Given the description of an element on the screen output the (x, y) to click on. 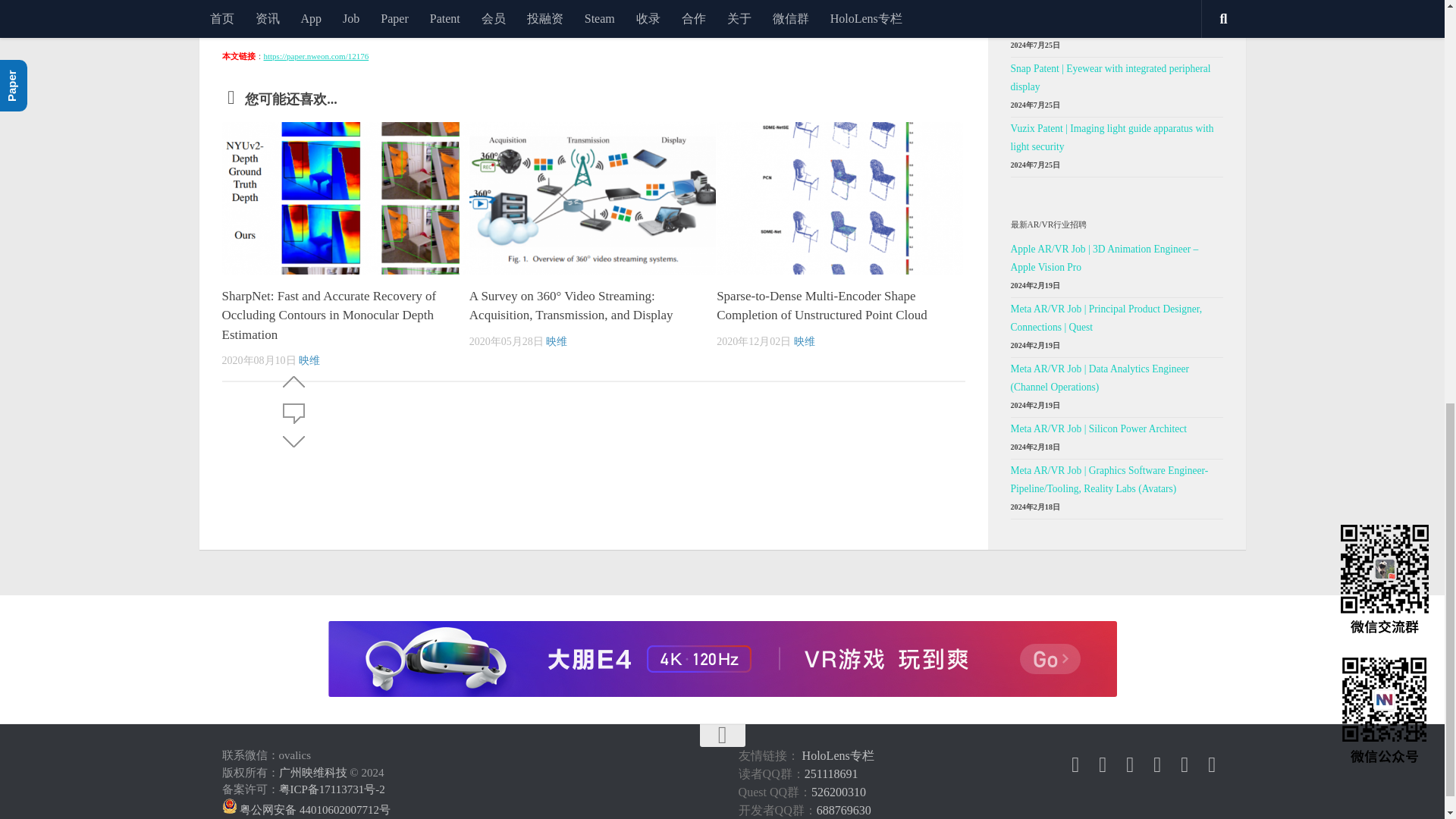
Twitter (1102, 764)
